Given the description of an element on the screen output the (x, y) to click on. 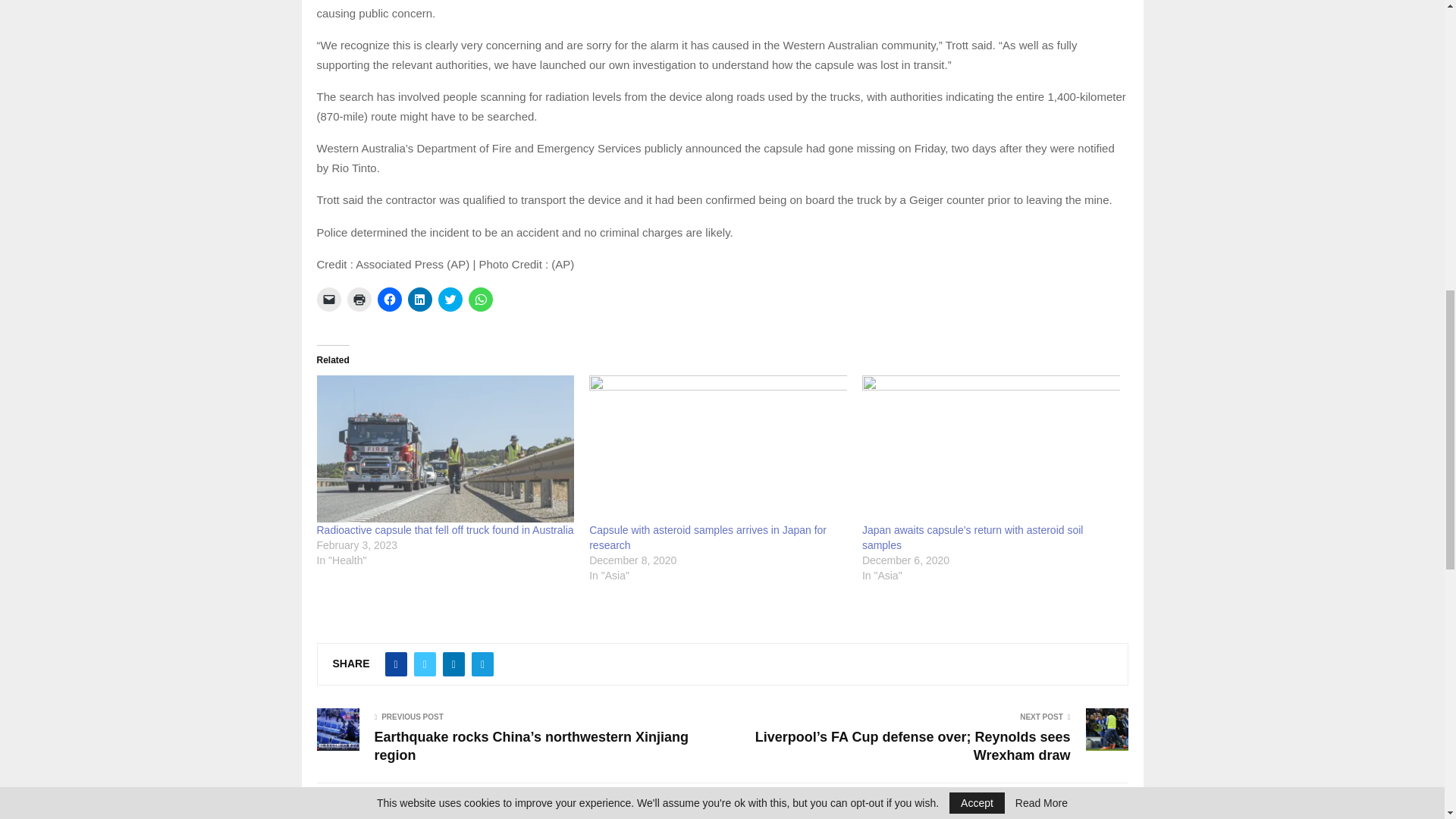
Click to print (359, 298)
Click to email a link to a friend (328, 298)
Click to share on LinkedIn (419, 298)
Click to share on Facebook (389, 298)
Click to share on Twitter (450, 298)
